Given the description of an element on the screen output the (x, y) to click on. 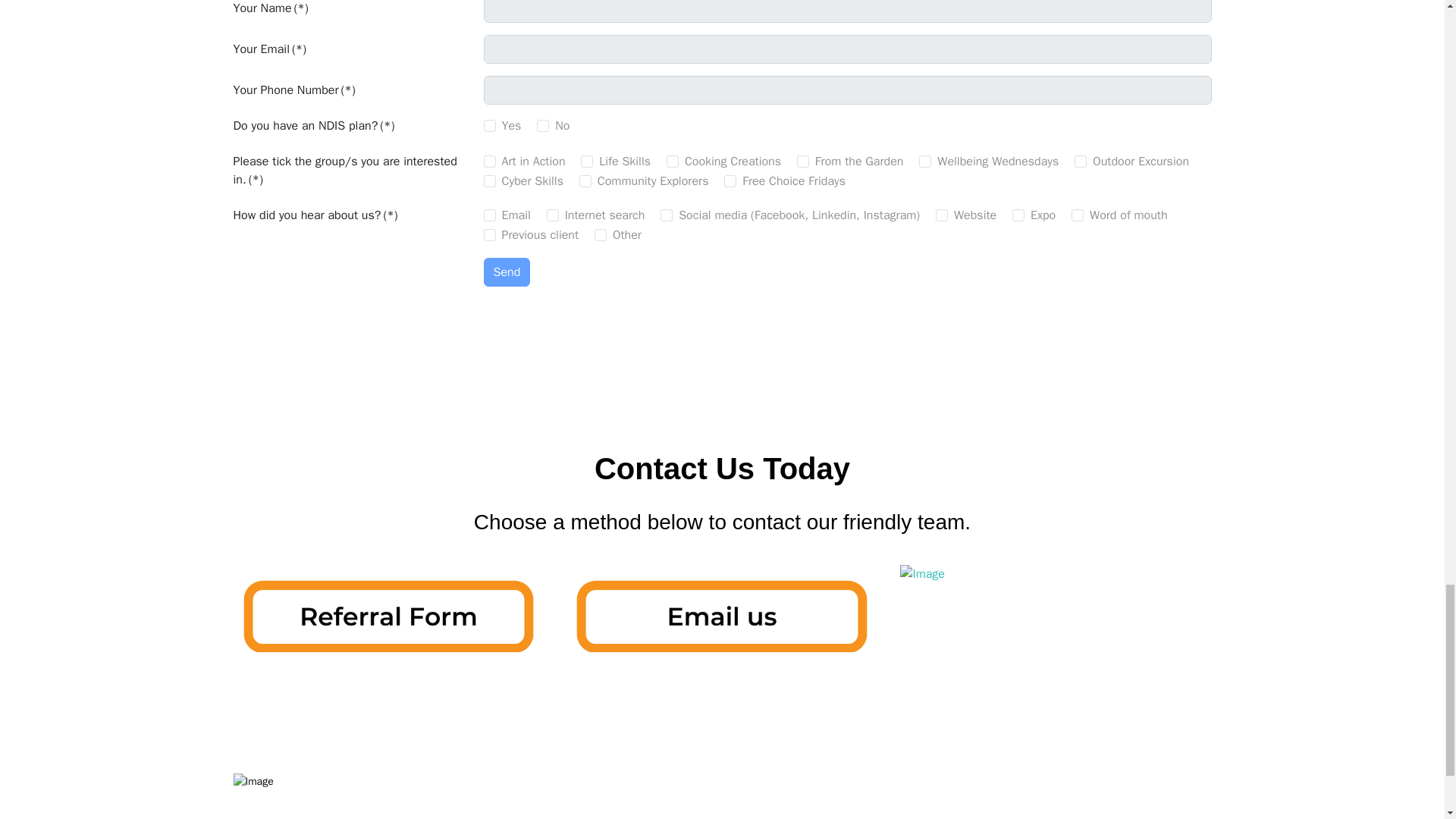
Internet search (553, 215)
No (542, 125)
Wellbeing Wednesdays (924, 161)
Email (489, 215)
From the Garden (802, 161)
Word of mouth (1077, 215)
Cooking Creations (672, 161)
Free Choice Fridays (729, 181)
Cyber Skills (489, 181)
Life Skills (586, 161)
Art in Action (489, 161)
Website (941, 215)
Outdoor Excursion (1080, 161)
Yes (489, 125)
Expo (1018, 215)
